Given the description of an element on the screen output the (x, y) to click on. 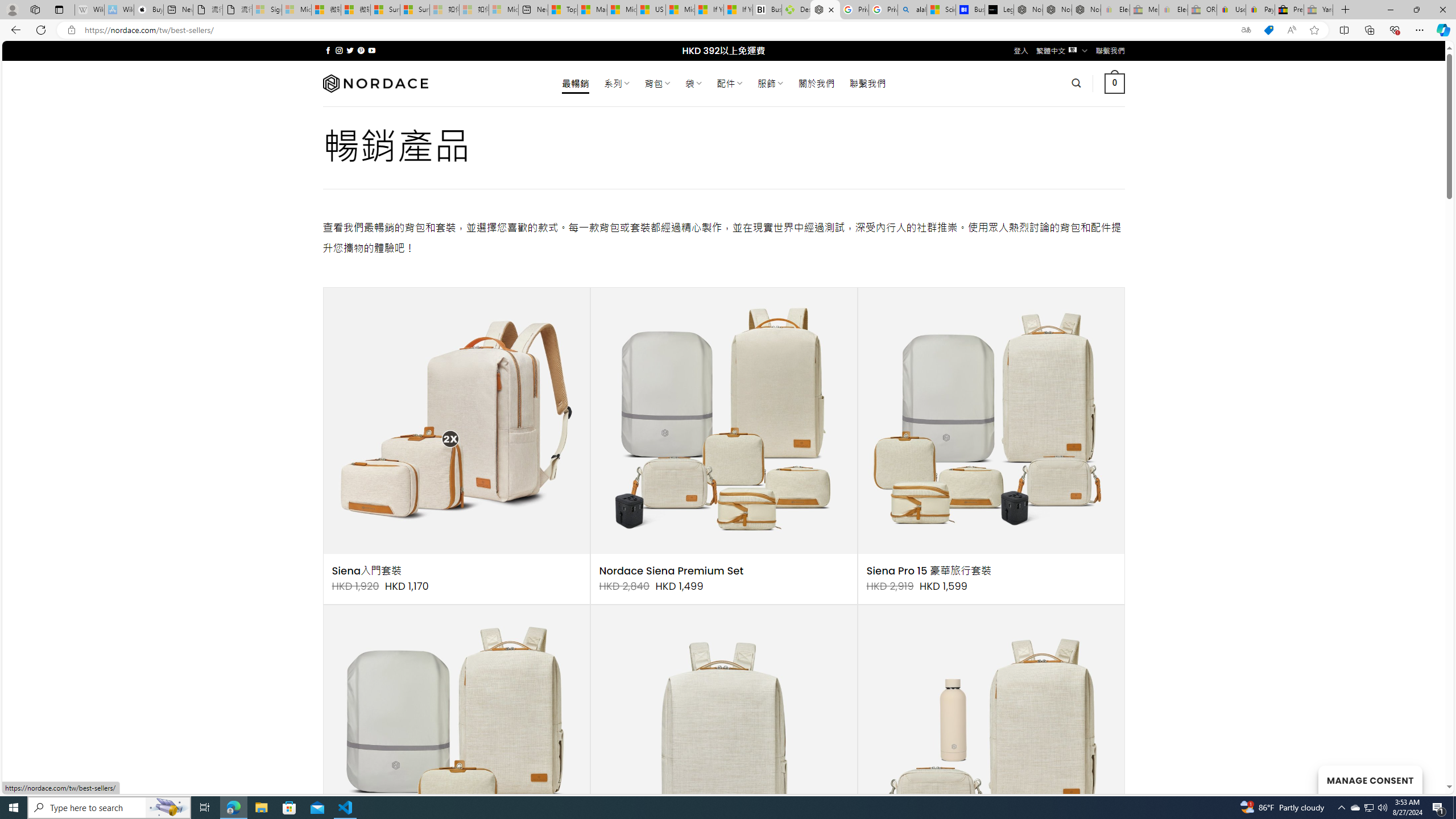
Restore (1416, 9)
Address and search bar (658, 29)
Add this page to favorites (Ctrl+D) (1314, 29)
Workspaces (34, 9)
Refresh (40, 29)
Close tab (831, 9)
Wikipedia - Sleeping (89, 9)
